Given the description of an element on the screen output the (x, y) to click on. 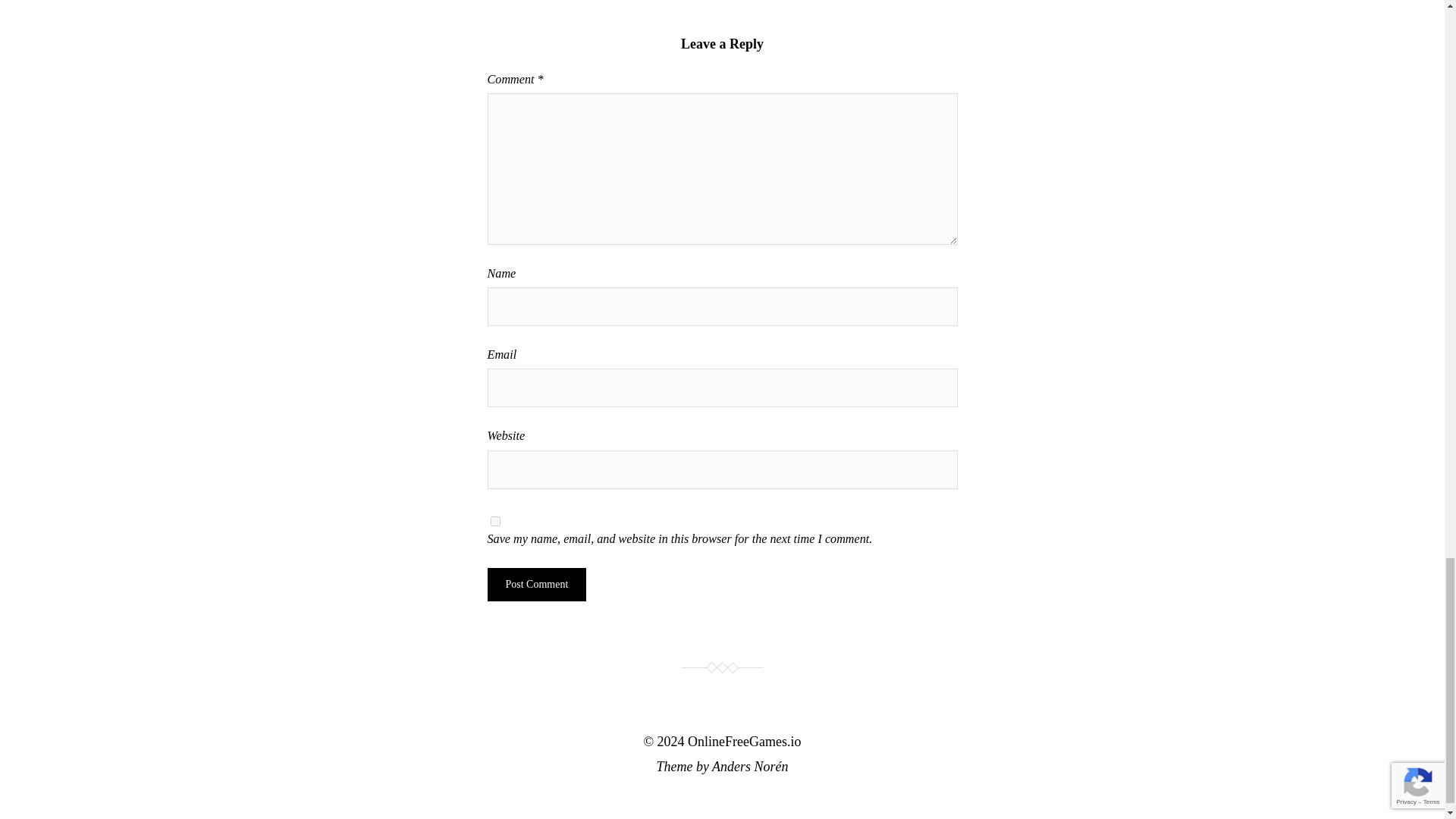
Post Comment (536, 584)
Post Comment (536, 584)
yes (494, 521)
OnlineFreeGames.io (743, 741)
